Given the description of an element on the screen output the (x, y) to click on. 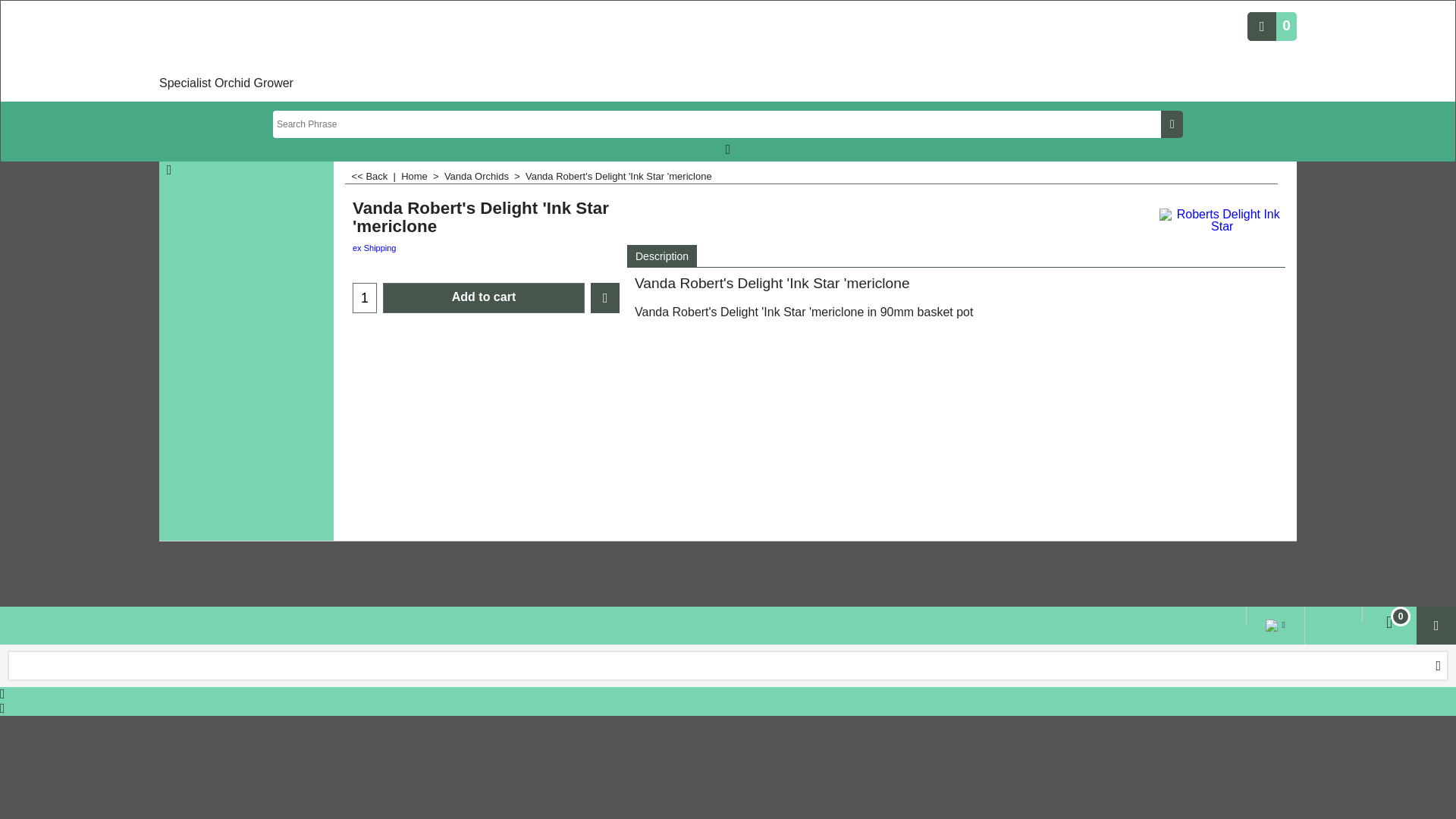
ex Shipping Element type: text (374, 247)
Roberts Delight Ink Star  Element type: hover (1221, 220)
0 Element type: text (1271, 25)
Add to cart Element type: text (483, 297)
Vanda Robert's Delight 'Ink Star 'mericlone Element type: text (485, 218)
Favorites Element type: hover (604, 297)
Description Element type: text (661, 256)
English Element type: hover (1271, 628)
Home  >  Element type: text (422, 176)
Vanda Orchids  >  Element type: text (484, 176)
  Element type: text (1437, 665)
 << Back  Element type: text (369, 176)
1 Element type: text (364, 297)
Find Element type: hover (1437, 665)
Find Element type: hover (1172, 124)
0 Element type: text (1388, 622)
